Given the description of an element on the screen output the (x, y) to click on. 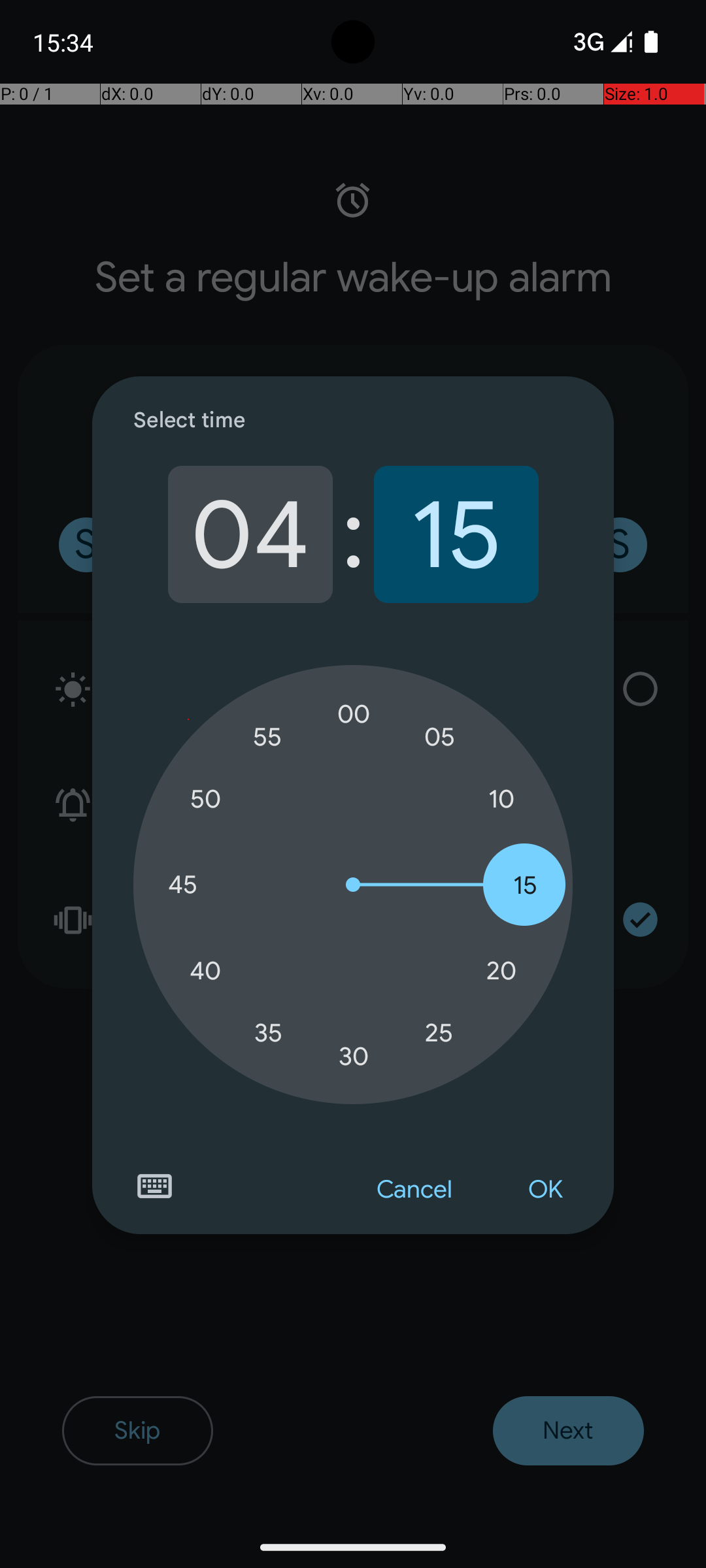
04 Element type: android.view.View (250, 534)
Switch to text input mode for the time input. Element type: android.widget.Button (154, 1186)
Cancel Element type: android.widget.Button (414, 1189)
55 Element type: android.widget.TextView (267, 736)
50 Element type: android.widget.TextView (205, 798)
05 Element type: android.widget.TextView (439, 736)
45 Element type: android.widget.TextView (182, 884)
40 Element type: android.widget.TextView (205, 970)
35 Element type: android.widget.TextView (267, 1032)
30 Element type: android.widget.TextView (353, 1056)
25 Element type: android.widget.TextView (438, 1032)
